Given the description of an element on the screen output the (x, y) to click on. 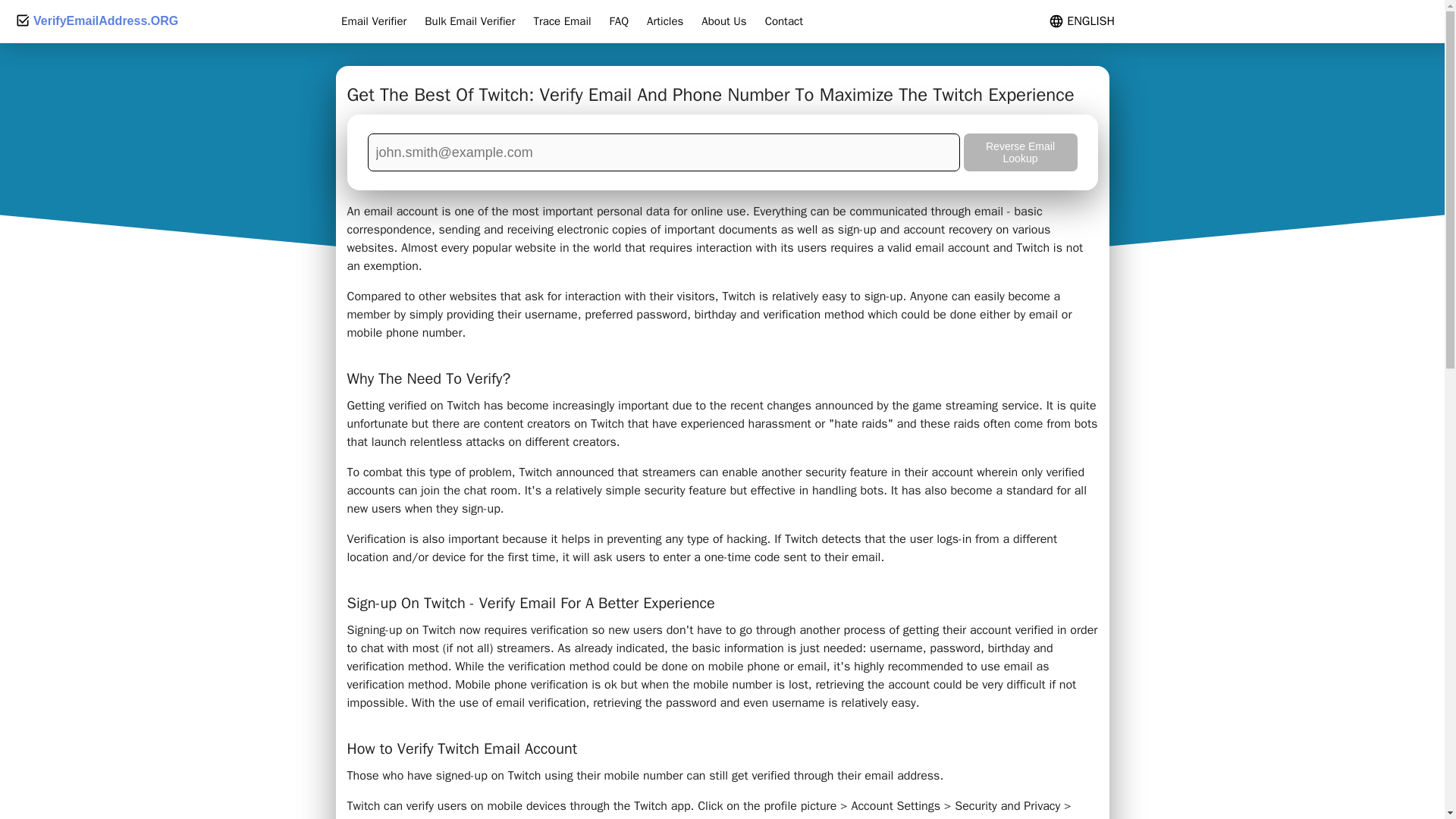
Articles (664, 20)
Contact (784, 20)
Email Verifier (373, 20)
Bulk Email Verifier (470, 20)
Trace Email (562, 20)
FAQ (619, 20)
VerifyEmailAddress.ORG (95, 20)
Reverse Email Lookup (1019, 152)
About Us (723, 20)
